Given the description of an element on the screen output the (x, y) to click on. 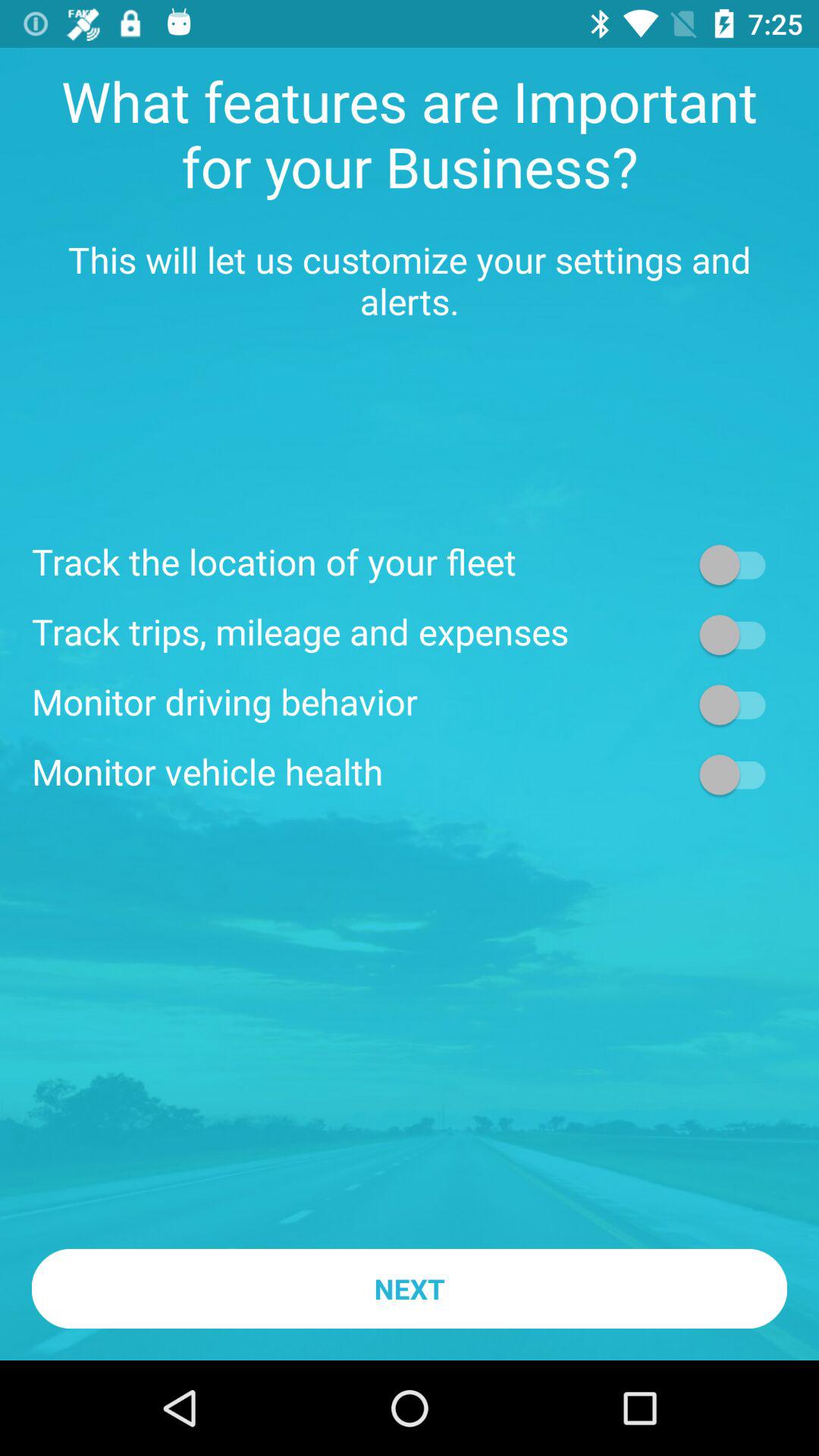
autoplay page (739, 704)
